Given the description of an element on the screen output the (x, y) to click on. 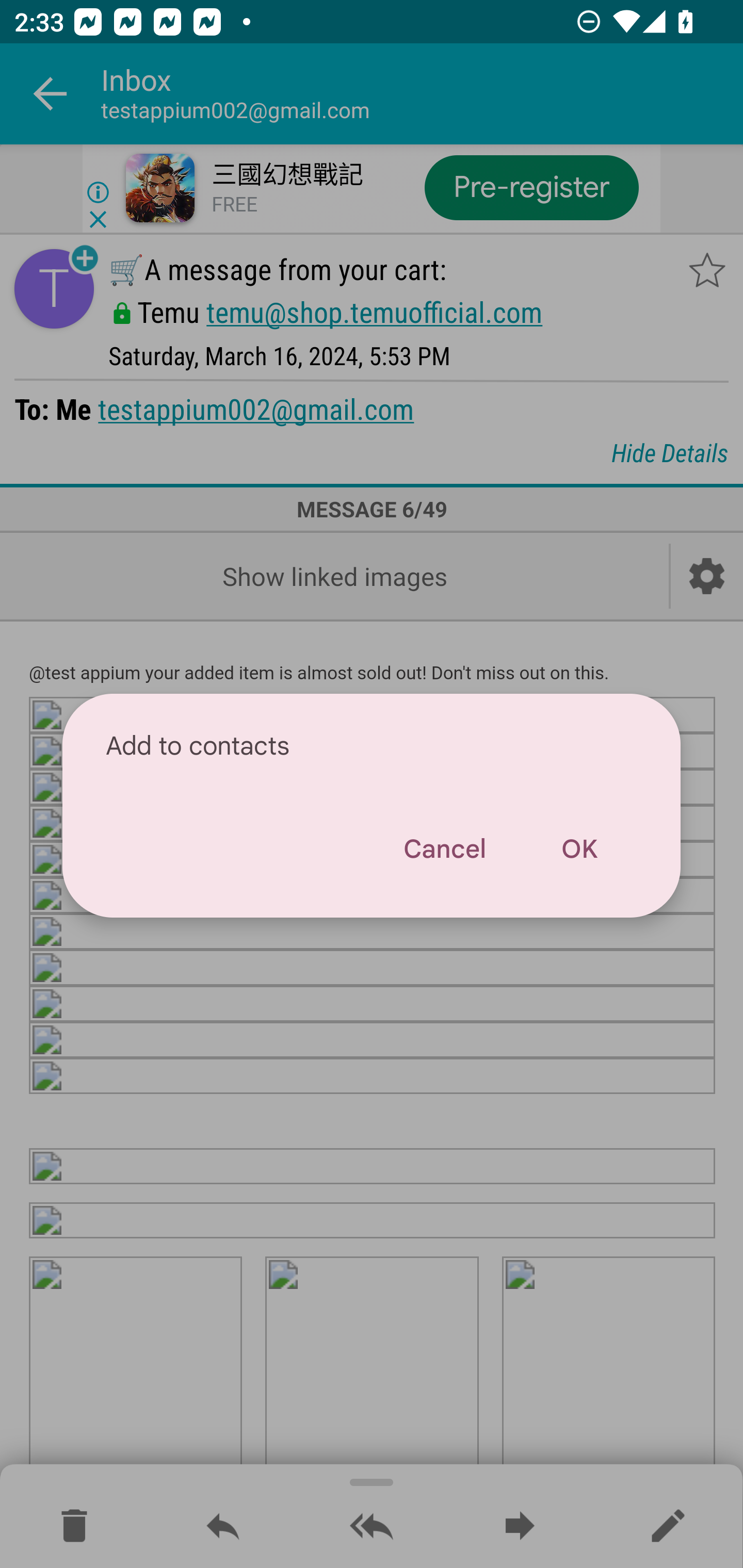
Cancel (444, 848)
OK (579, 848)
